Given the description of an element on the screen output the (x, y) to click on. 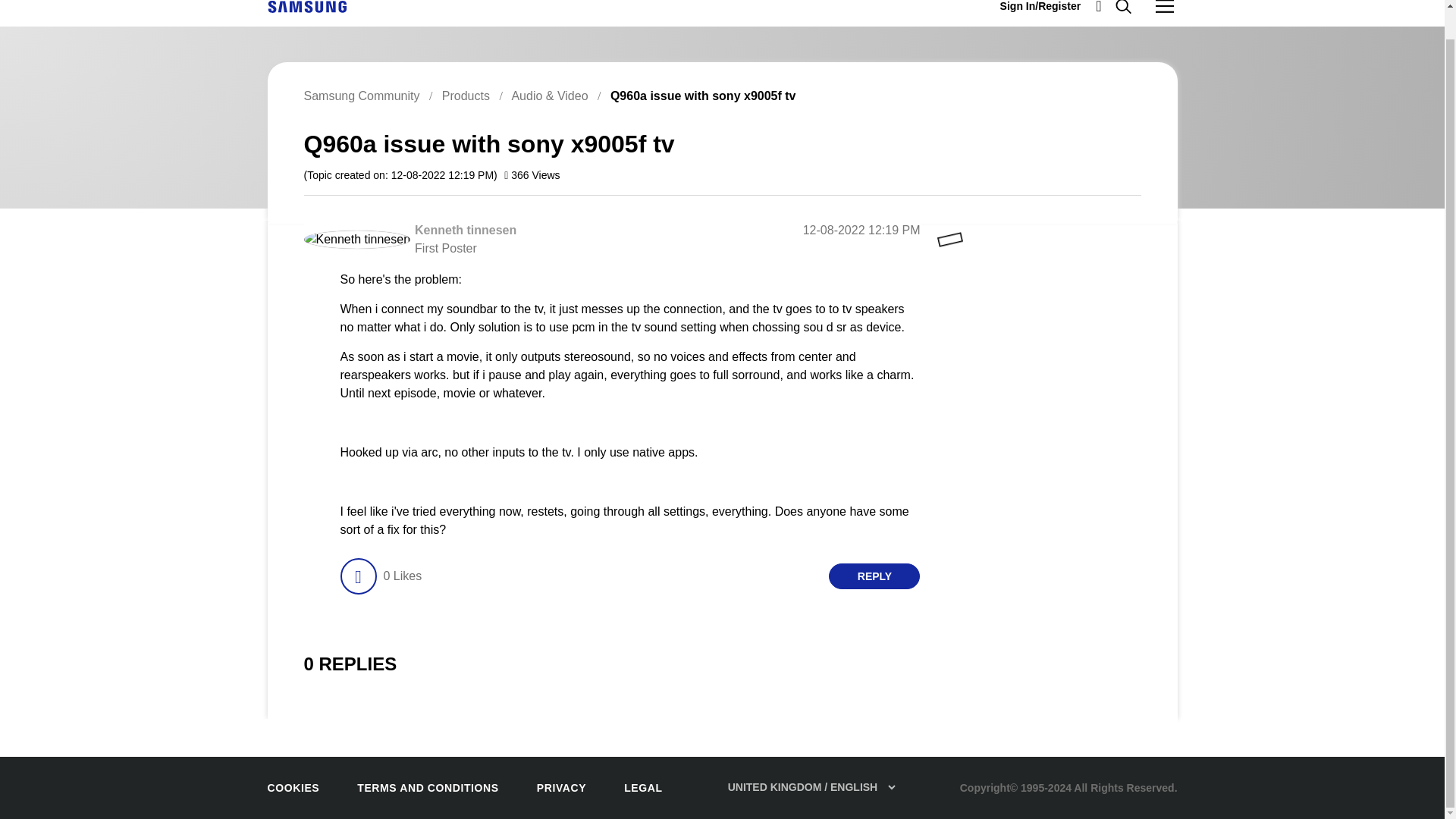
Click here to give likes to this post. (357, 575)
Samsung Community (360, 95)
English (306, 6)
PRIVACY (561, 787)
TERMS AND CONDITIONS (426, 787)
COOKIES (292, 787)
Community (1164, 7)
Kenneth tinnesen (356, 239)
Kenneth tinnesen (465, 229)
English (306, 6)
The total number of likes this post has received. (401, 575)
Products (465, 95)
REPLY (874, 575)
LEGAL (643, 787)
